Given the description of an element on the screen output the (x, y) to click on. 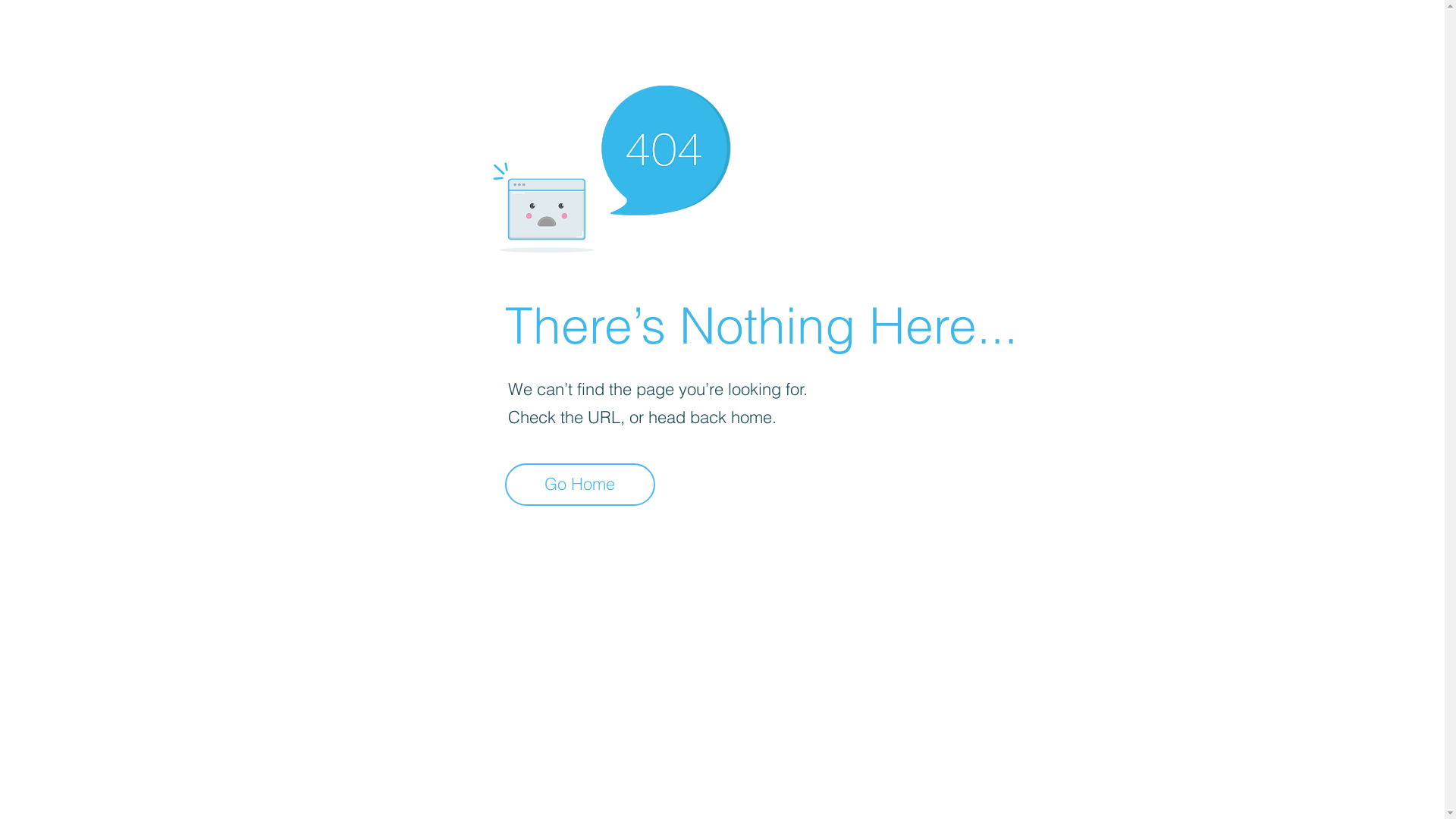
Go Home Element type: text (580, 484)
404-icon_2.png Element type: hover (610, 164)
